Given the description of an element on the screen output the (x, y) to click on. 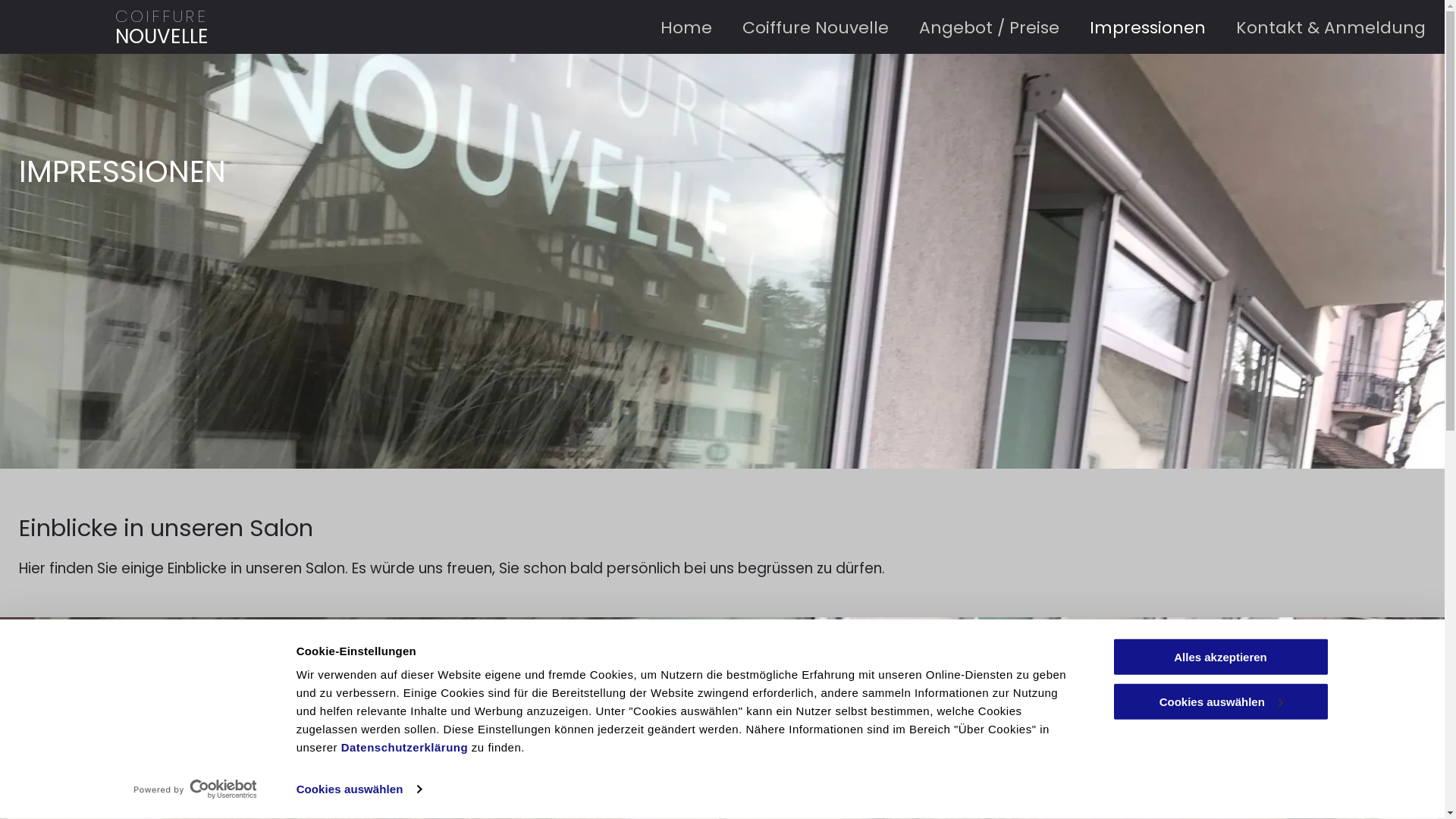
Coiffure Nouvelle Element type: text (800, 25)
Alles akzeptieren Element type: text (1219, 656)
Kontakt & Anmeldung Element type: text (1315, 25)
NOUVELLE Element type: text (161, 36)
Angebot / Preise Element type: text (973, 25)
Home Element type: text (671, 25)
Impressionen Element type: text (1132, 25)
COIFFURE Element type: text (161, 16)
